Given the description of an element on the screen output the (x, y) to click on. 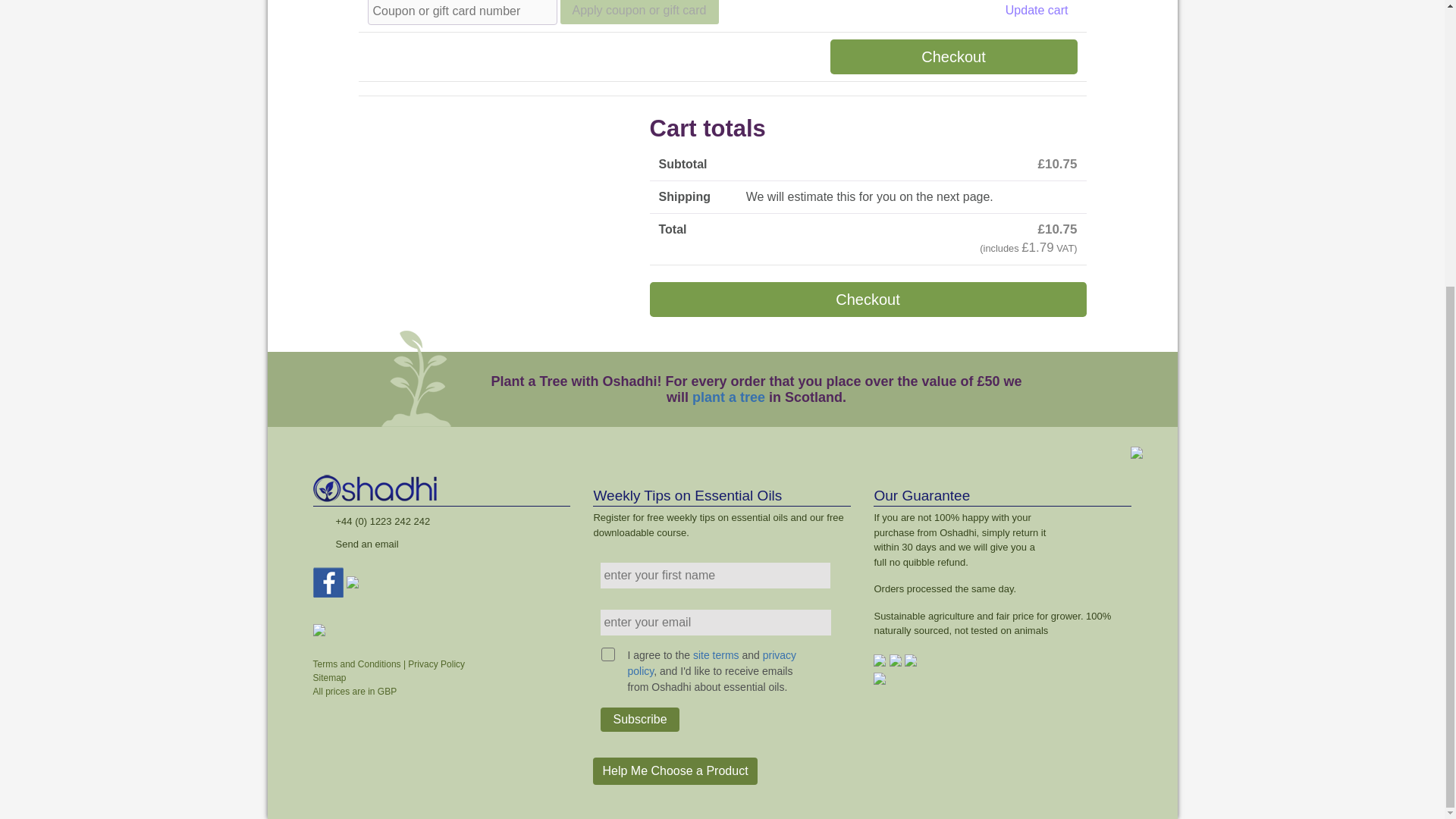
Subscribe (638, 719)
Apply coupon or gift card (638, 12)
